Given the description of an element on the screen output the (x, y) to click on. 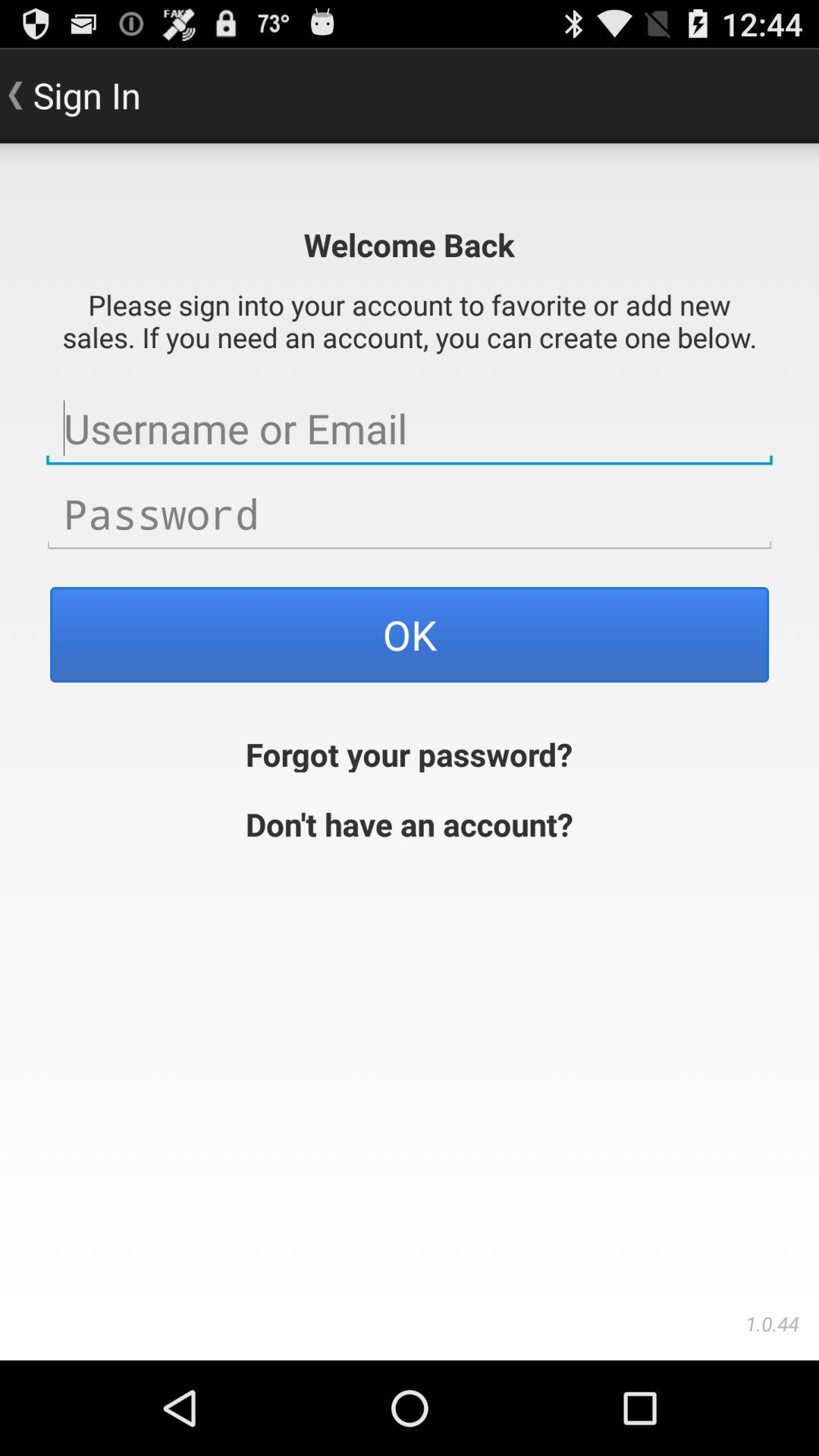
swipe to the forgot your password? app (408, 752)
